Given the description of an element on the screen output the (x, y) to click on. 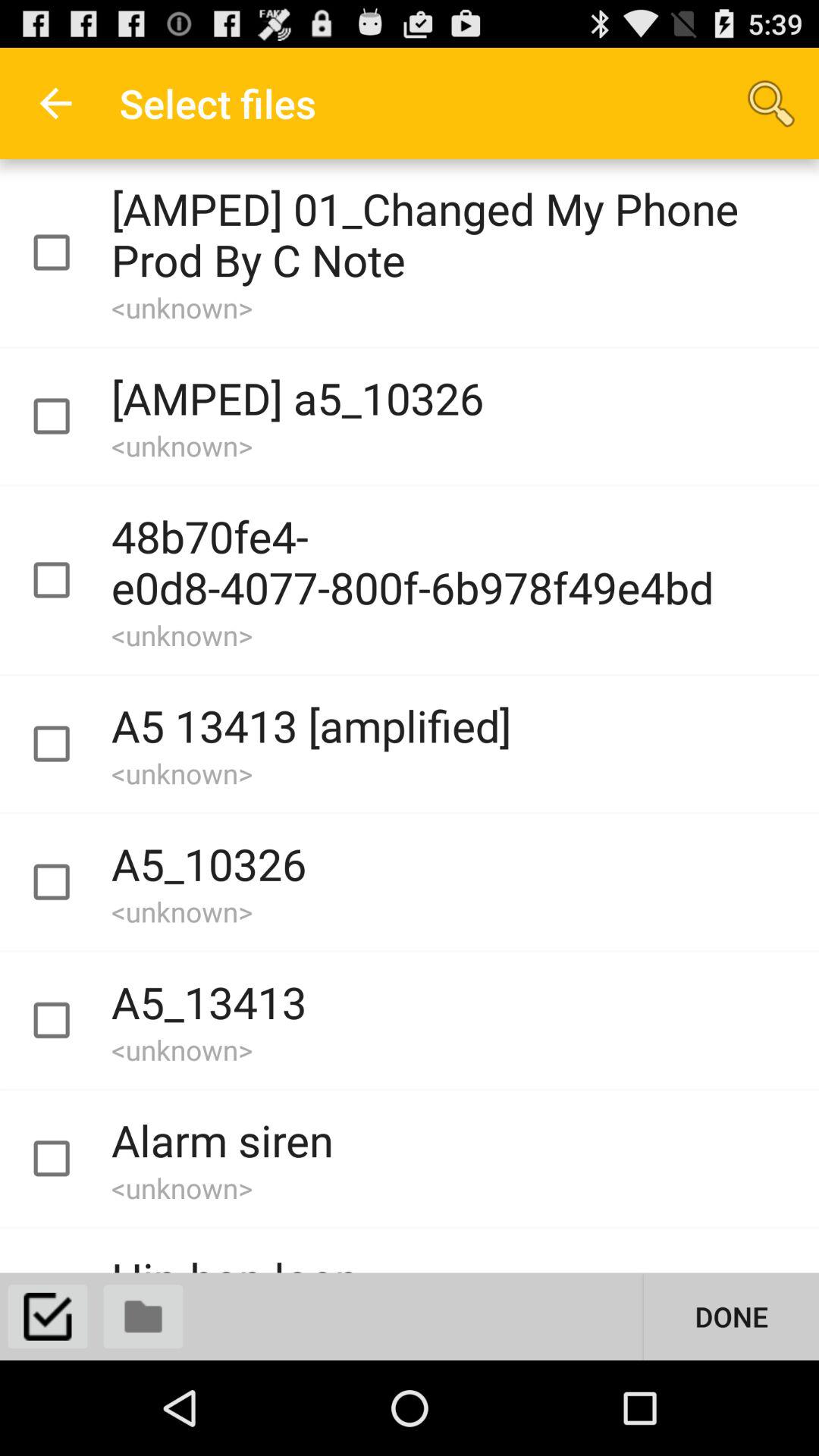
it 's used to select the file you want (65, 580)
